Given the description of an element on the screen output the (x, y) to click on. 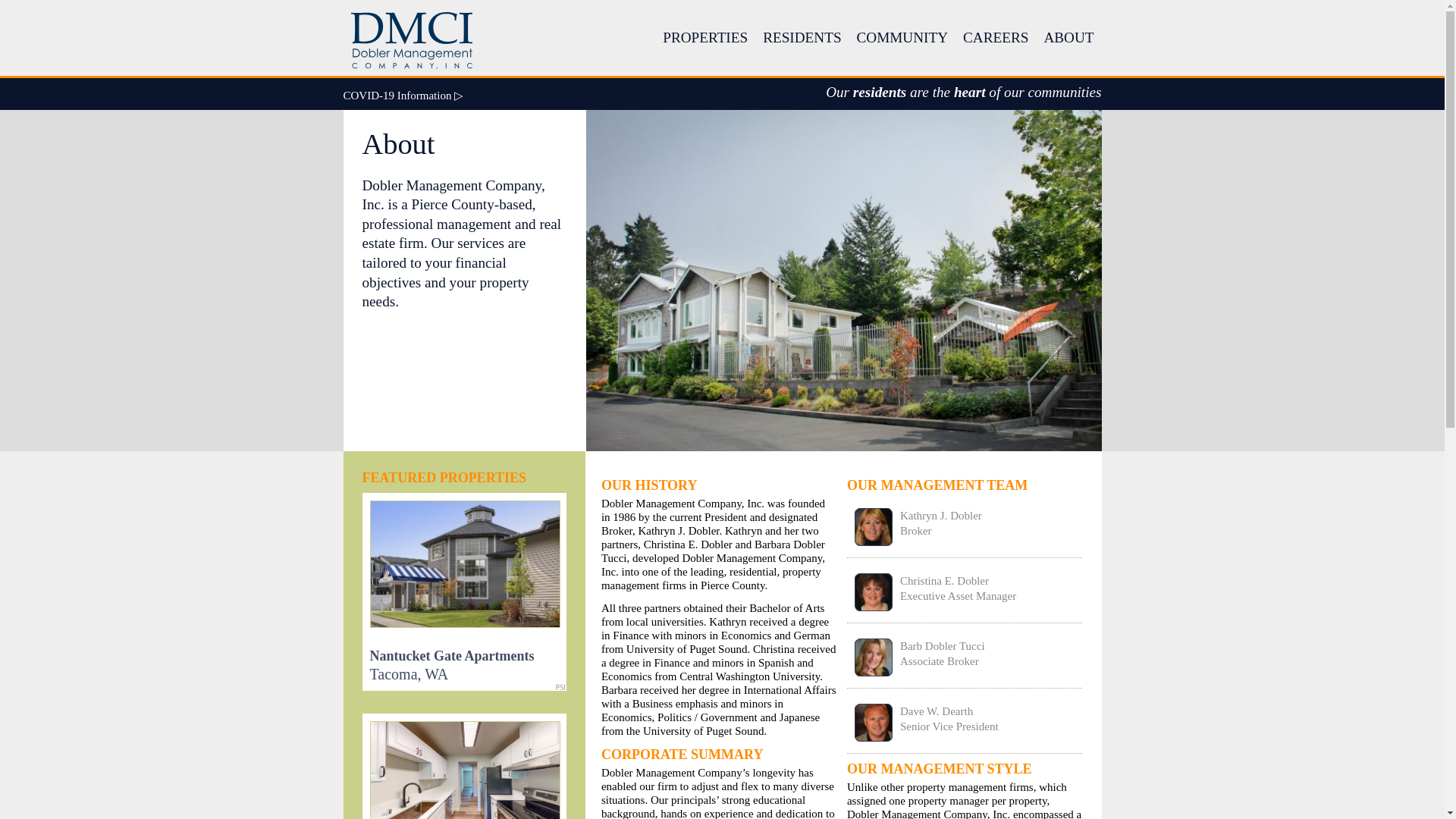
PROPERTIES (705, 38)
CAREERS (965, 722)
RESIDENTS (965, 526)
COMMUNITY (965, 656)
ABOUT (464, 592)
